Given the description of an element on the screen output the (x, y) to click on. 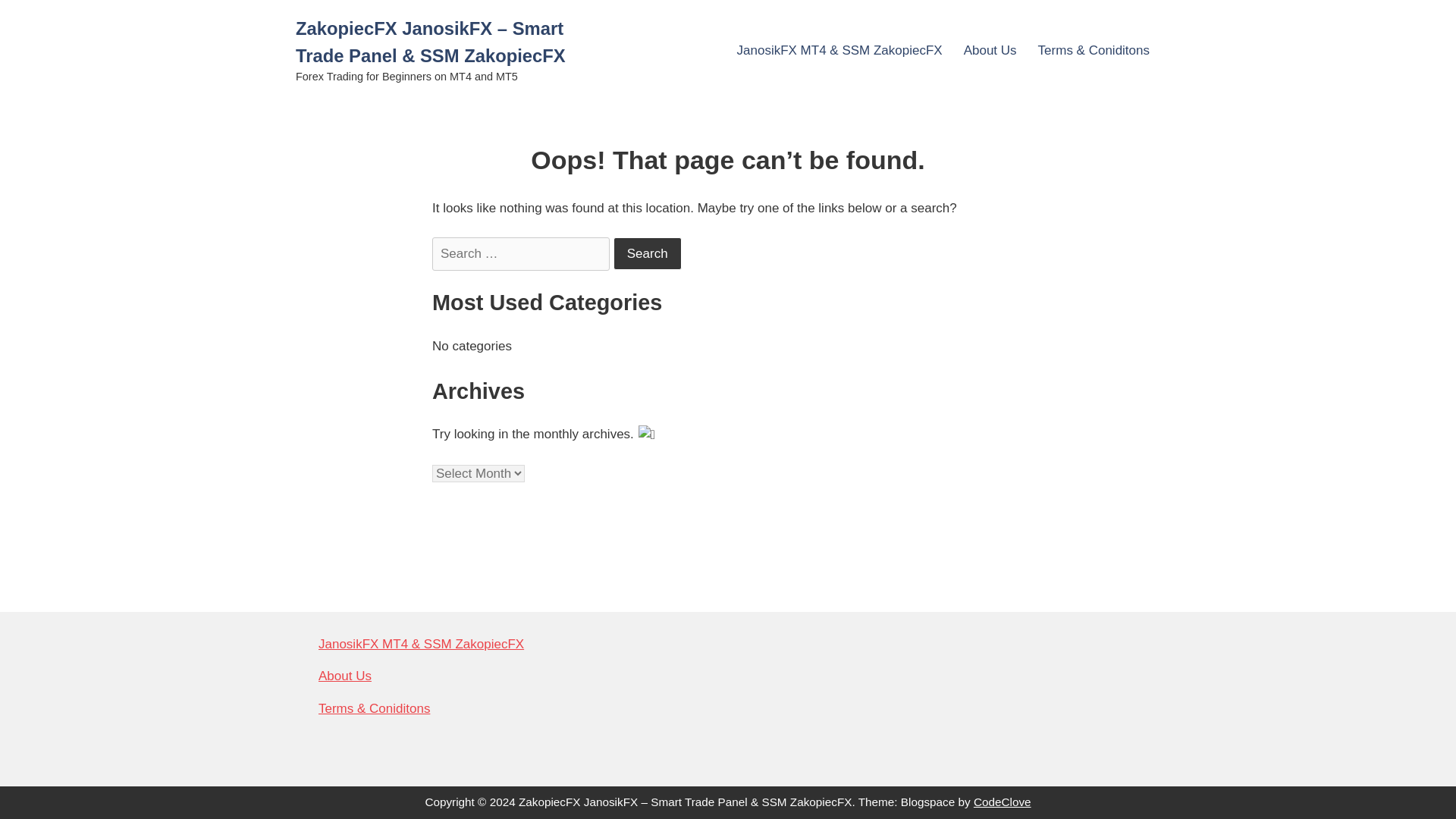
CodeClove (1002, 801)
About Us (344, 676)
About Us (990, 49)
Search (646, 253)
Search (646, 253)
Search (646, 253)
